Given the description of an element on the screen output the (x, y) to click on. 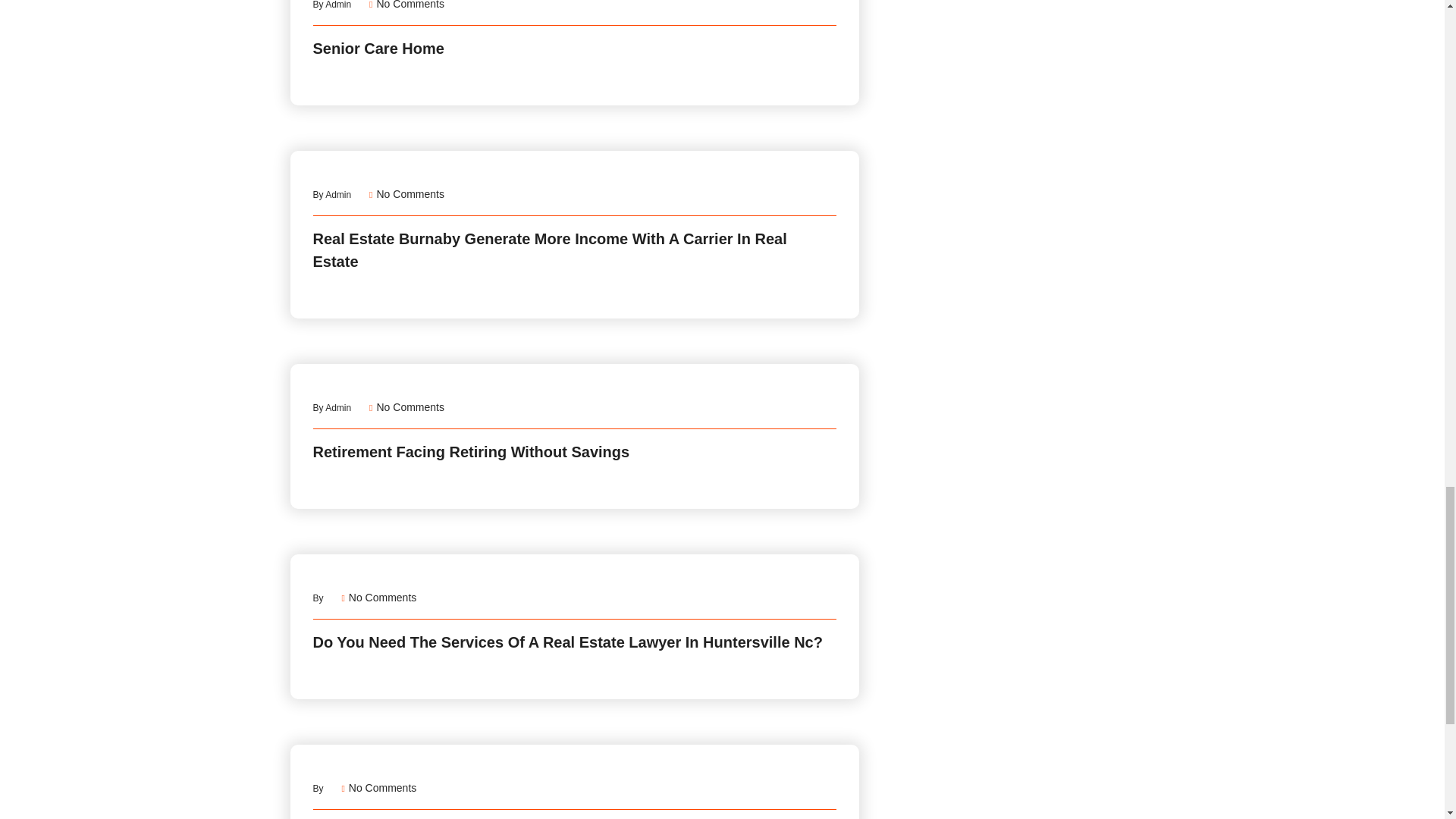
Senior Care Home (378, 48)
By Admin (409, 407)
By Admin (409, 4)
By (331, 194)
By (331, 4)
By Admin (318, 597)
Retirement Facing Retiring Without Savings (318, 787)
